Given the description of an element on the screen output the (x, y) to click on. 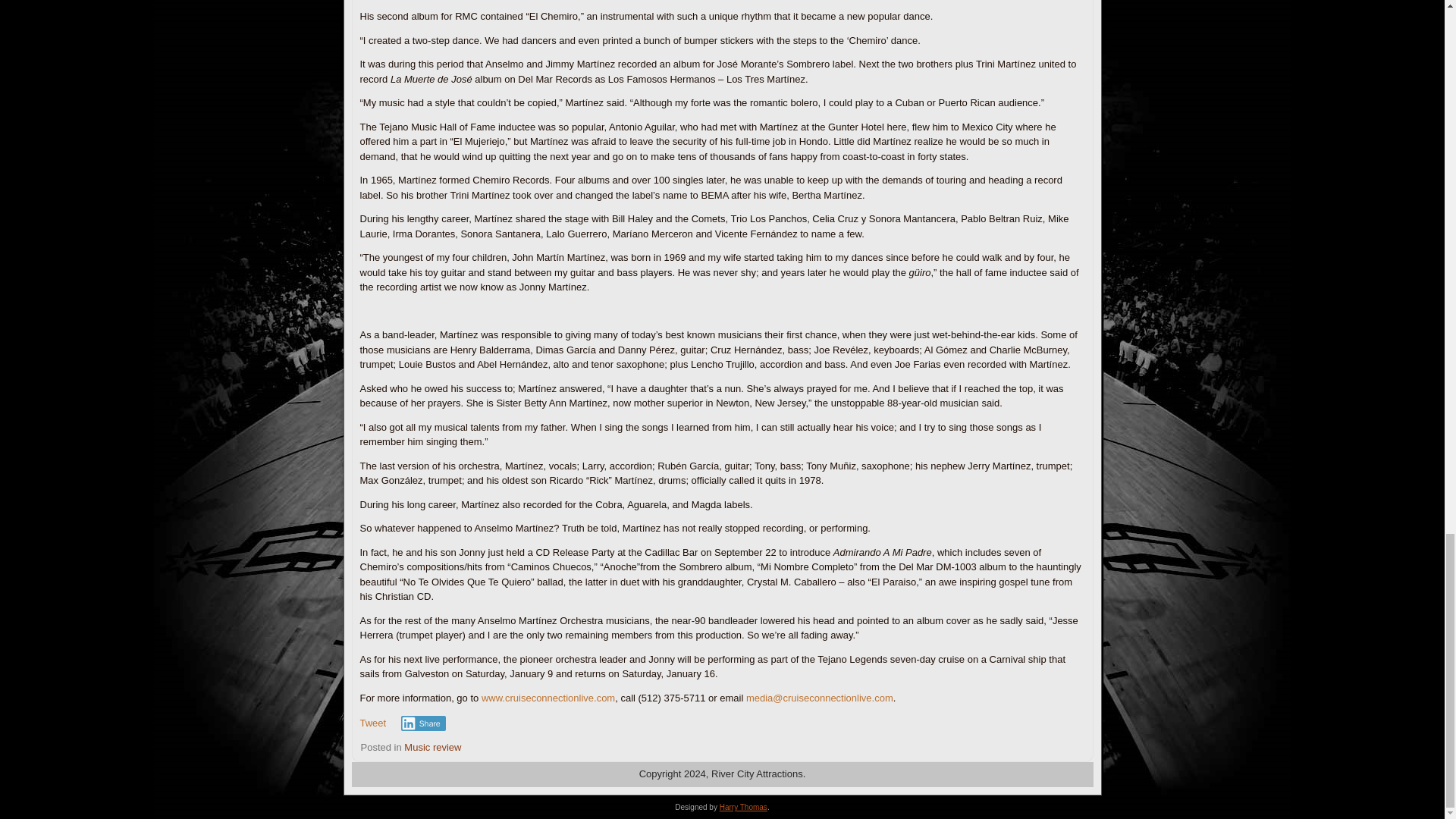
Tweet (372, 722)
www.cruiseconnectionlive.com (547, 697)
Harry Thomas (743, 807)
Music review (432, 747)
Share (423, 723)
